Given the description of an element on the screen output the (x, y) to click on. 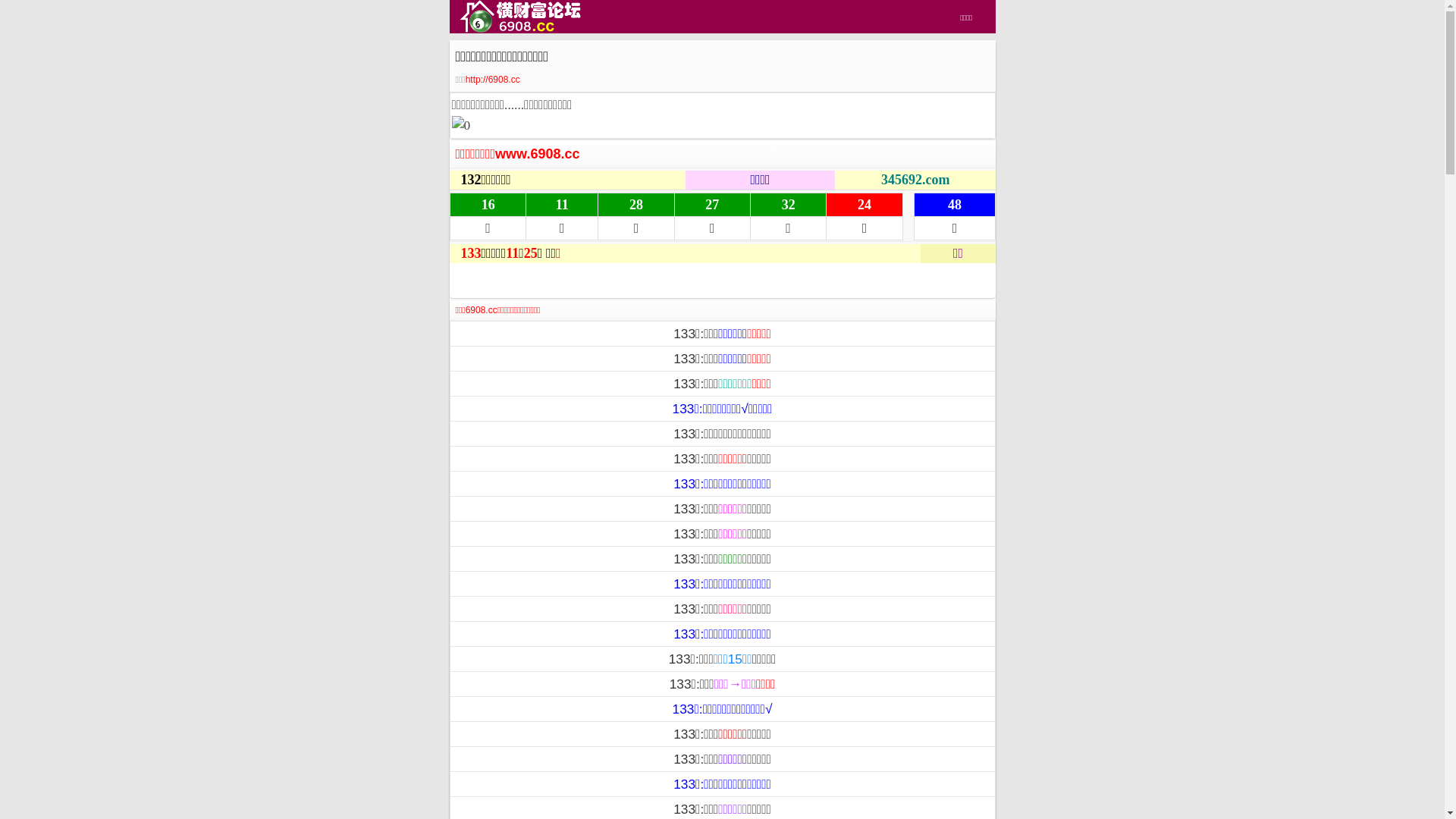
0 Element type: hover (460, 125)
